Given the description of an element on the screen output the (x, y) to click on. 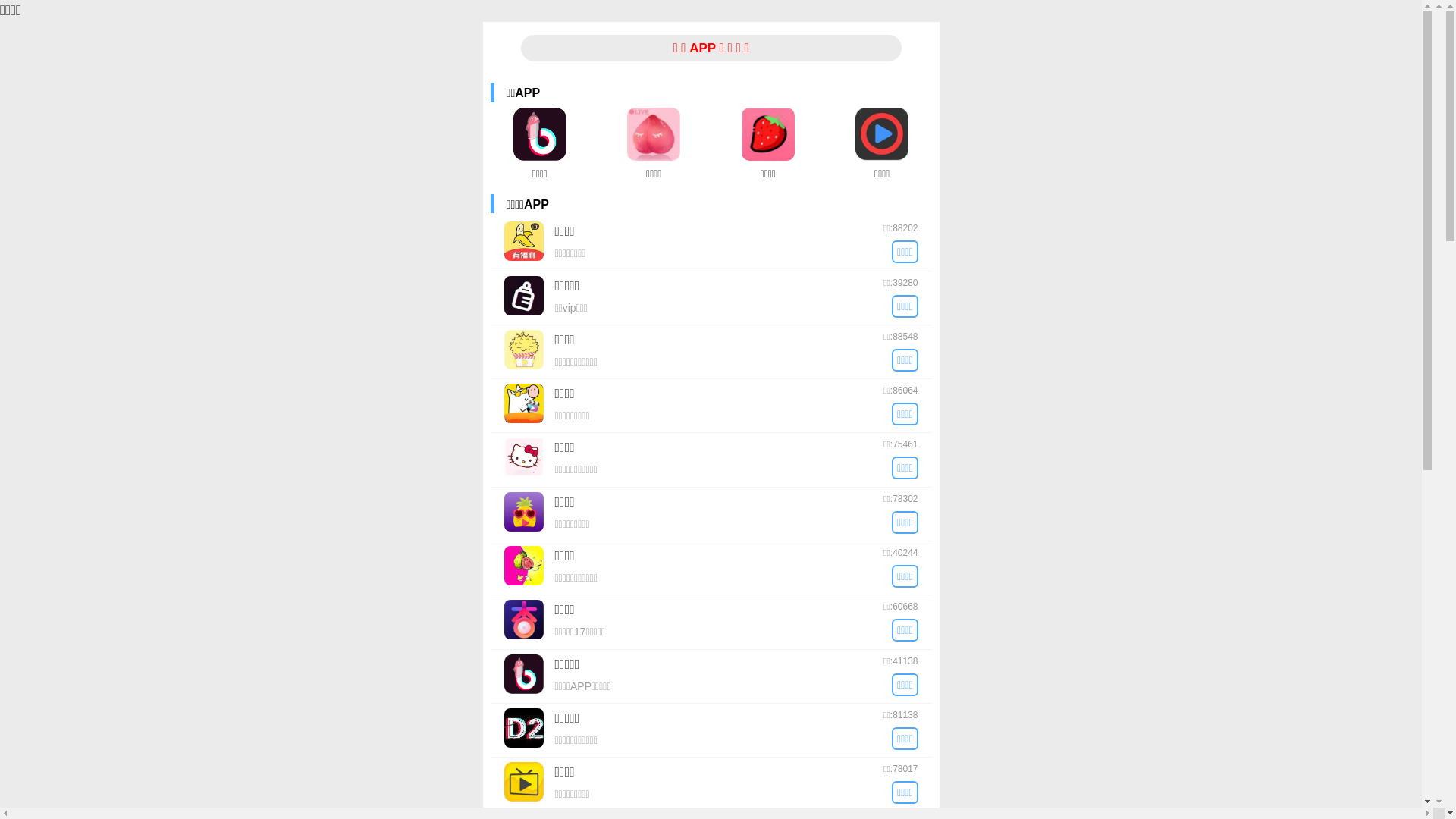
1492852059327656.jpg Element type: hover (992, 72)
SEE MORE>> Element type: text (721, 632)
1 Element type: text (704, 502)
XML Element type: text (1113, 21)
RSS Element type: text (1087, 21)
2 Element type: text (728, 502)
